Given the description of an element on the screen output the (x, y) to click on. 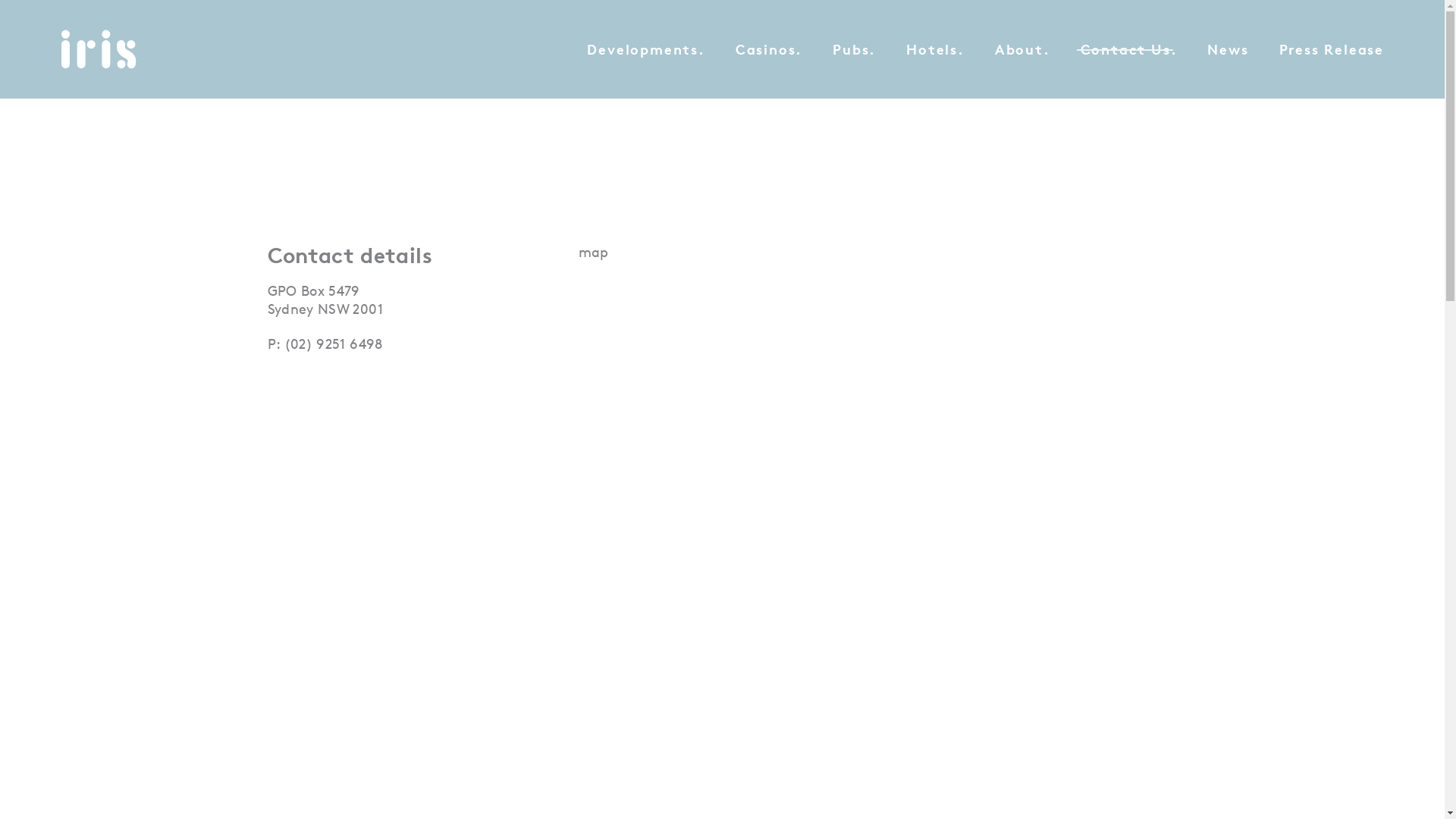
Hotels. Element type: text (935, 49)
About. Element type: text (1022, 49)
News Element type: text (1227, 49)
Press Release Element type: text (1331, 49)
Casinos. Element type: text (768, 49)
Developments. Element type: text (645, 49)
Pubs. Element type: text (853, 49)
Contact Us. Element type: text (1128, 49)
